Given the description of an element on the screen output the (x, y) to click on. 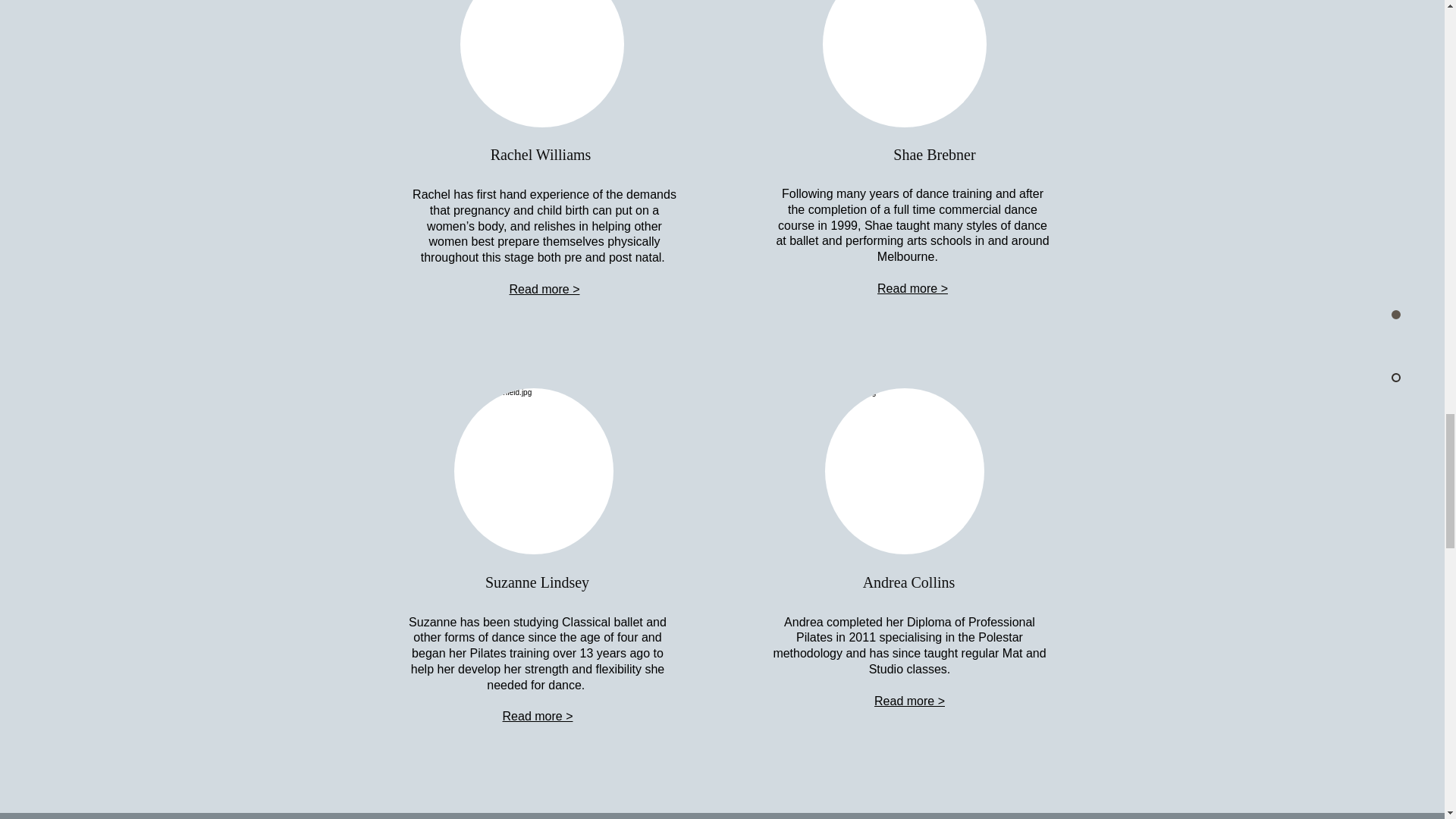
guy3.jpg (904, 471)
guy4.jpg (903, 63)
guy3.jpg (532, 471)
guy2.jpg (541, 63)
